Given the description of an element on the screen output the (x, y) to click on. 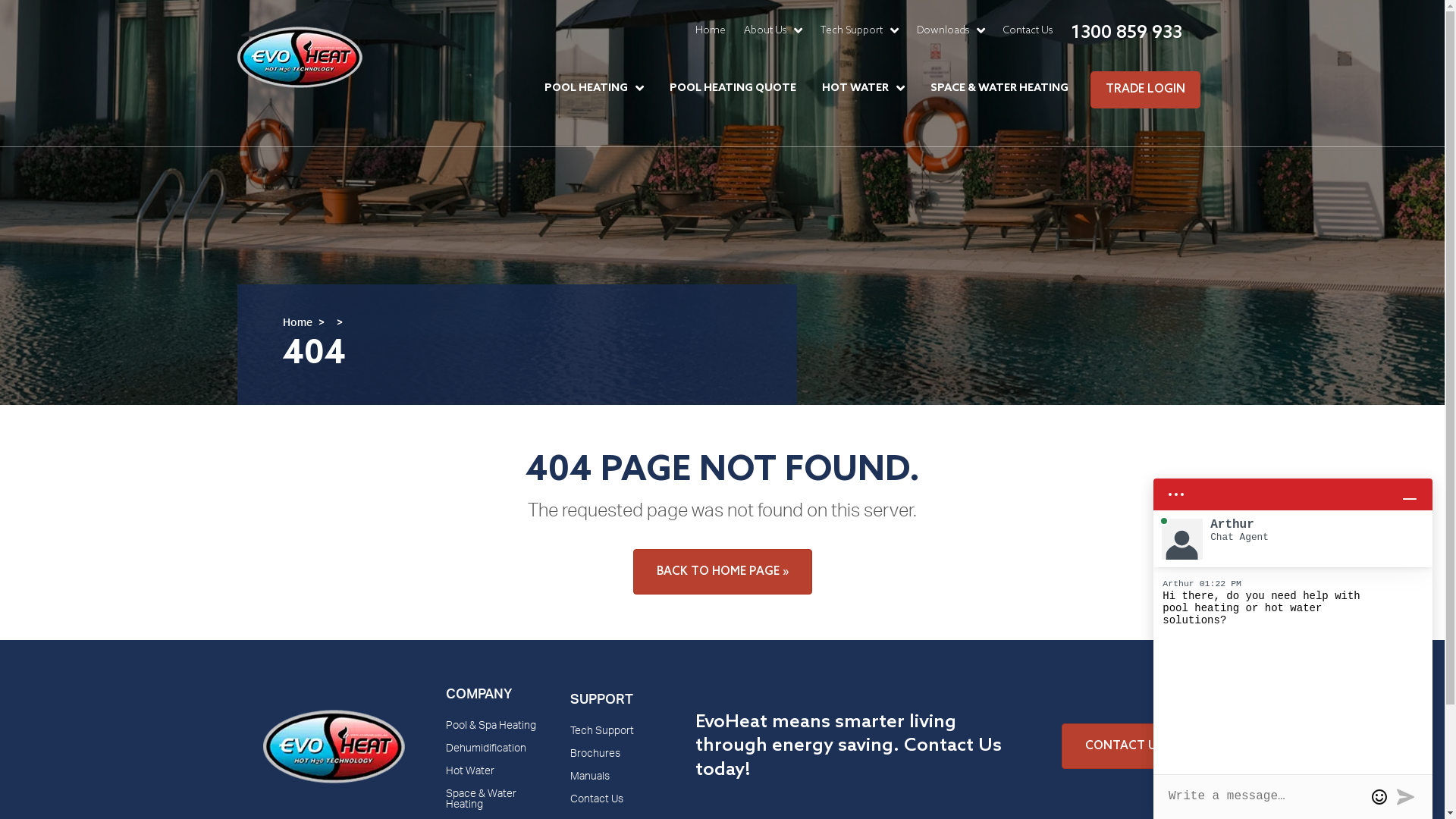
footer-evoheat Element type: hover (333, 708)
Manuals Element type: text (617, 782)
Skip to main content Element type: text (0, 0)
Downloads Element type: text (950, 30)
Contact Us Element type: text (617, 805)
SPACE & WATER HEATING Element type: text (998, 87)
1300 859 933 Element type: text (1126, 32)
HOT WATER Element type: text (863, 87)
Tech Support Element type: text (859, 30)
Brochures Element type: text (617, 760)
Home Element type: text (709, 30)
POOL HEATING QUOTE Element type: text (731, 87)
CONTACT US Element type: text (1123, 745)
Dehumidification Element type: text (492, 754)
Home Element type: text (296, 323)
About Us Element type: text (772, 30)
Pool & Spa Heating Element type: text (492, 732)
TRADE LOGIN Element type: text (1145, 89)
Contact Us Element type: text (1026, 30)
Tech Support Element type: text (617, 737)
Hot Water Element type: text (492, 777)
POOL HEATING Element type: text (593, 87)
